Given the description of an element on the screen output the (x, y) to click on. 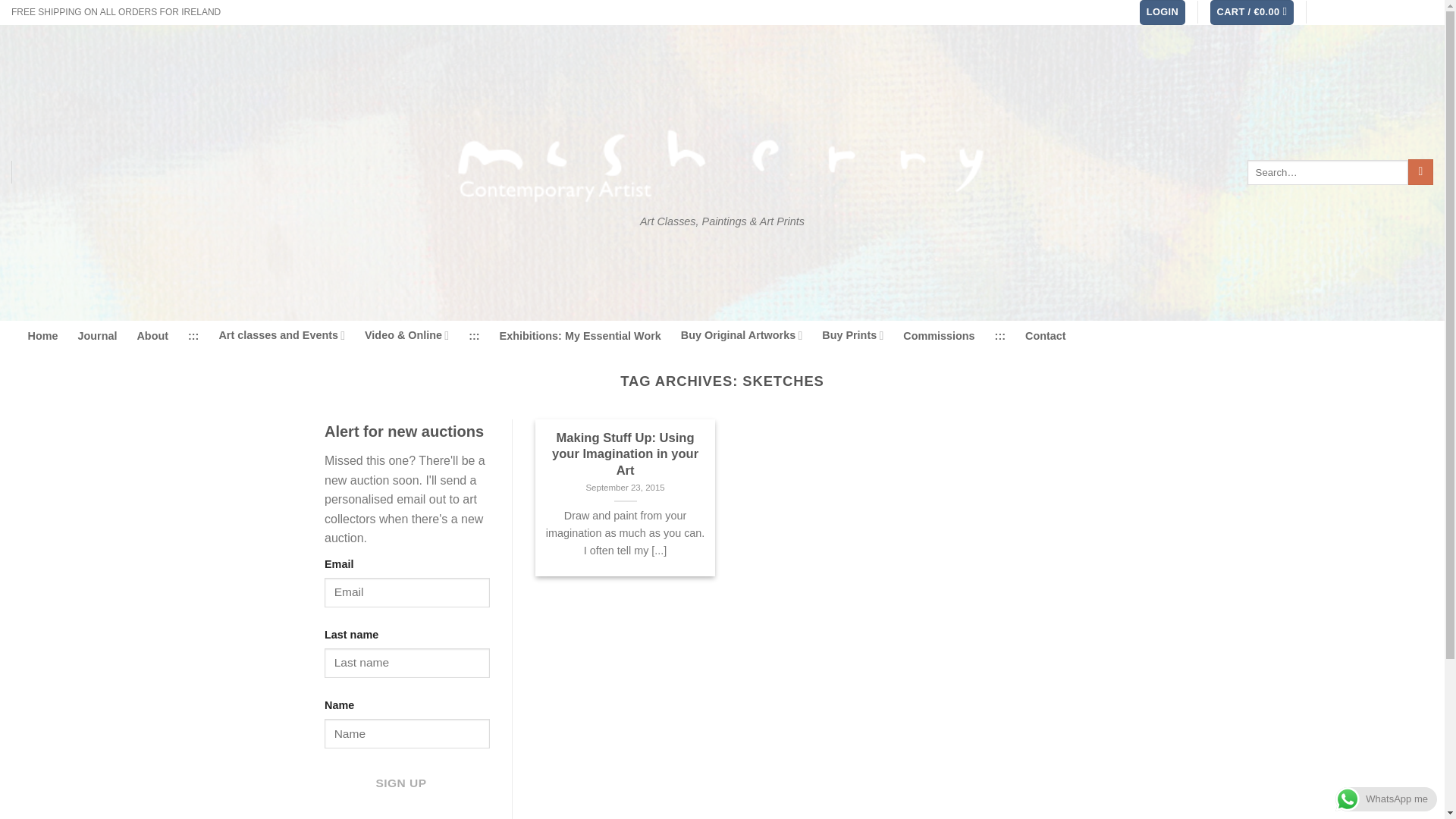
Contact (1045, 335)
Home (42, 335)
Cart (1251, 12)
About (152, 335)
Search (1419, 171)
::: (192, 335)
SIGN UP (400, 782)
::: (473, 335)
Art classes and Events (281, 335)
Journal (96, 335)
Buy Original Artworks (741, 335)
LOGIN (1162, 12)
Exhibitions: My Essential Work (580, 335)
Making Stuff Up: Using your Imagination in your Art (625, 454)
Commissions (938, 335)
